Given the description of an element on the screen output the (x, y) to click on. 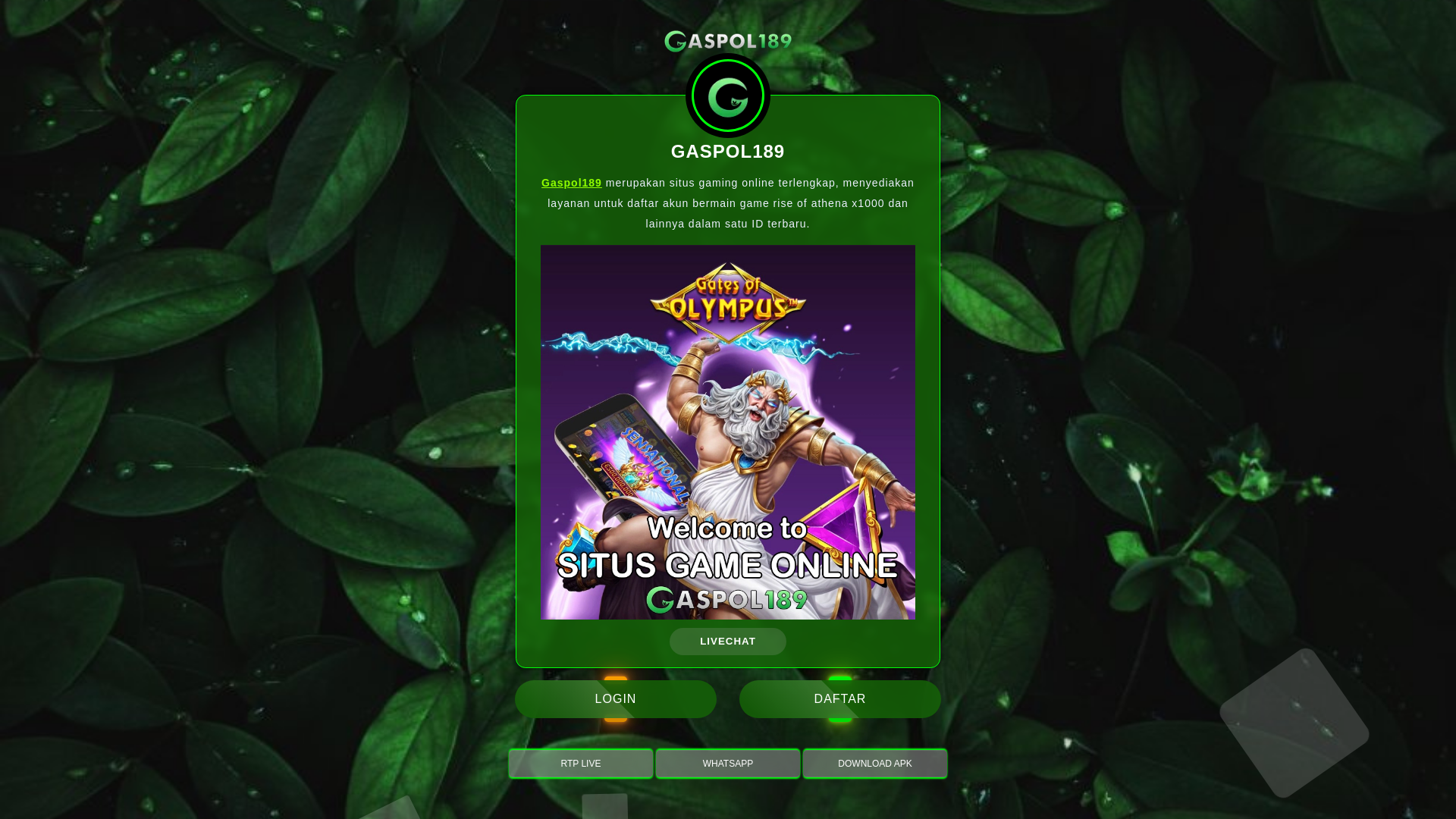
RTP LIVE (580, 763)
DAFTAR (839, 699)
WHATSAPP (727, 763)
DOWNLOAD APK (875, 763)
LOGIN (615, 699)
LIVECHAT (727, 641)
Gaspol189 (571, 182)
